Given the description of an element on the screen output the (x, y) to click on. 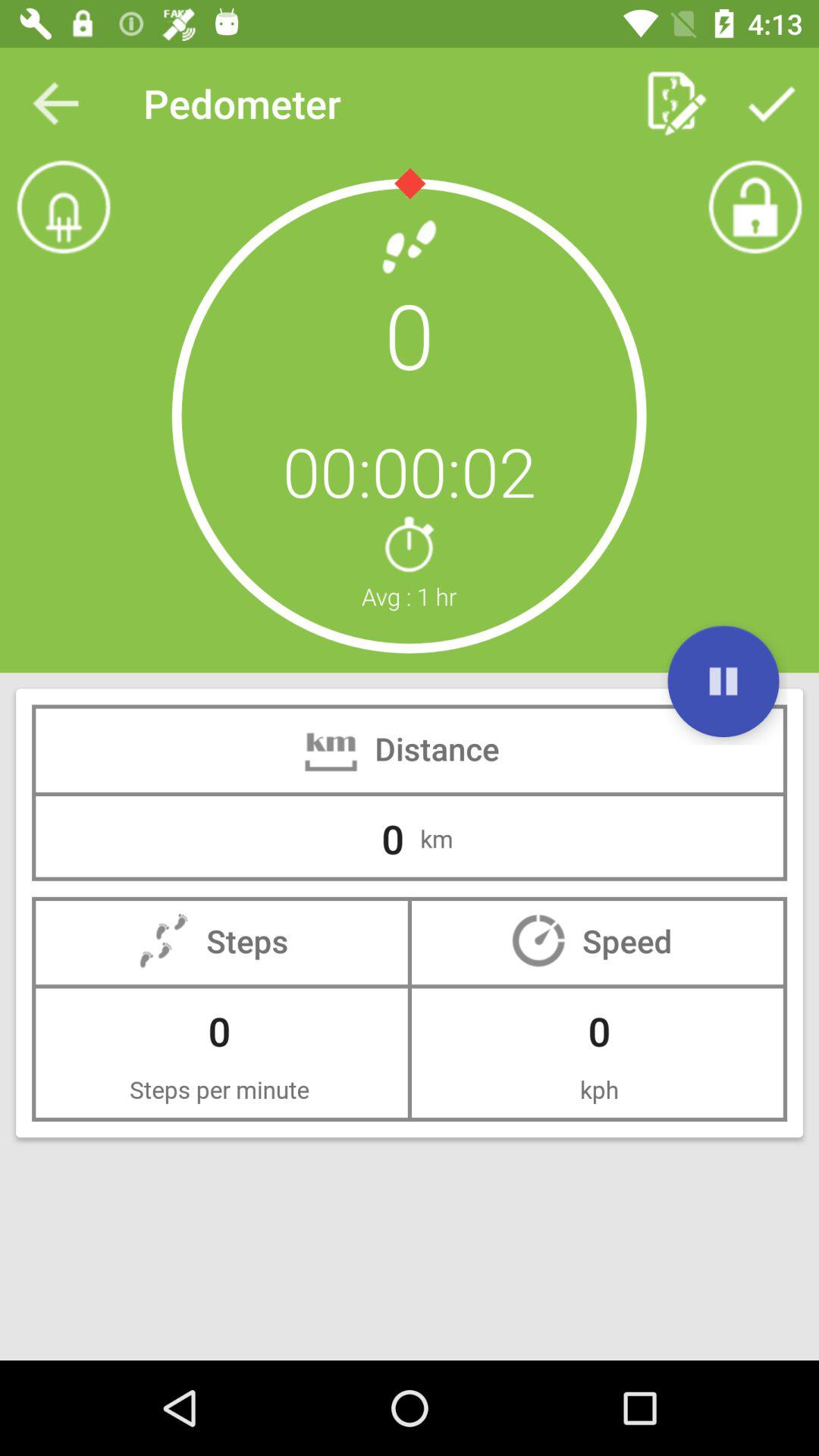
pause the distance (723, 681)
